Given the description of an element on the screen output the (x, y) to click on. 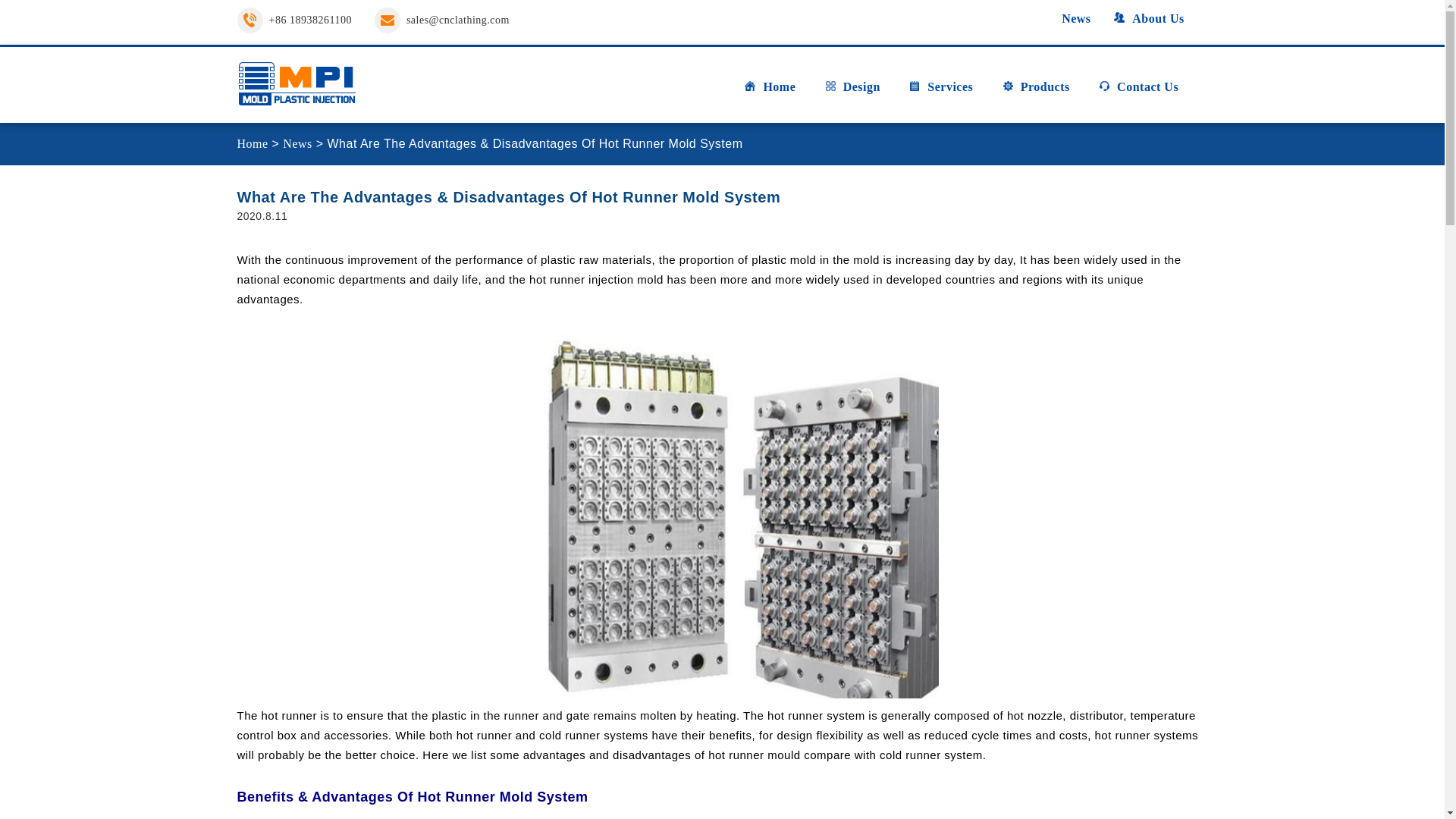
News (1066, 18)
Services (940, 92)
Products (1036, 92)
Go to the News category archives. (296, 143)
About Us (1148, 18)
Home (769, 92)
Design (852, 92)
Contact Us (1138, 92)
